Given the description of an element on the screen output the (x, y) to click on. 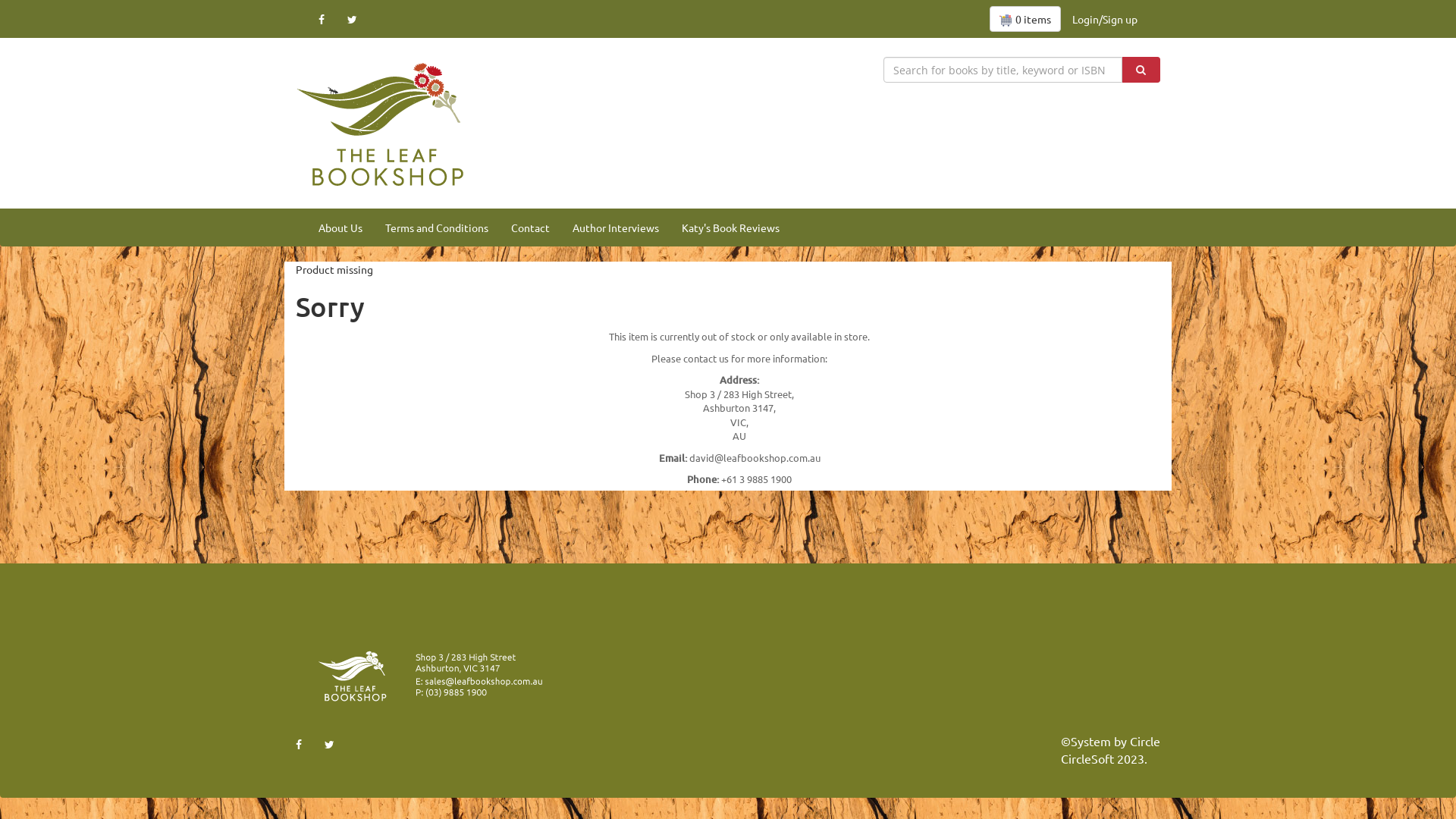
Contact Element type: text (530, 227)
Login/Sign up Element type: text (1104, 18)
0 items Element type: text (1024, 18)
About Us Element type: text (340, 227)
Katy's Book Reviews Element type: text (730, 227)
System by Circle Element type: text (1115, 740)
david@leafbookshop.com.au Element type: text (753, 457)
0 items Element type: text (1024, 18)
Author Interviews Element type: text (615, 227)
Terms and Conditions Element type: text (436, 227)
